Given the description of an element on the screen output the (x, y) to click on. 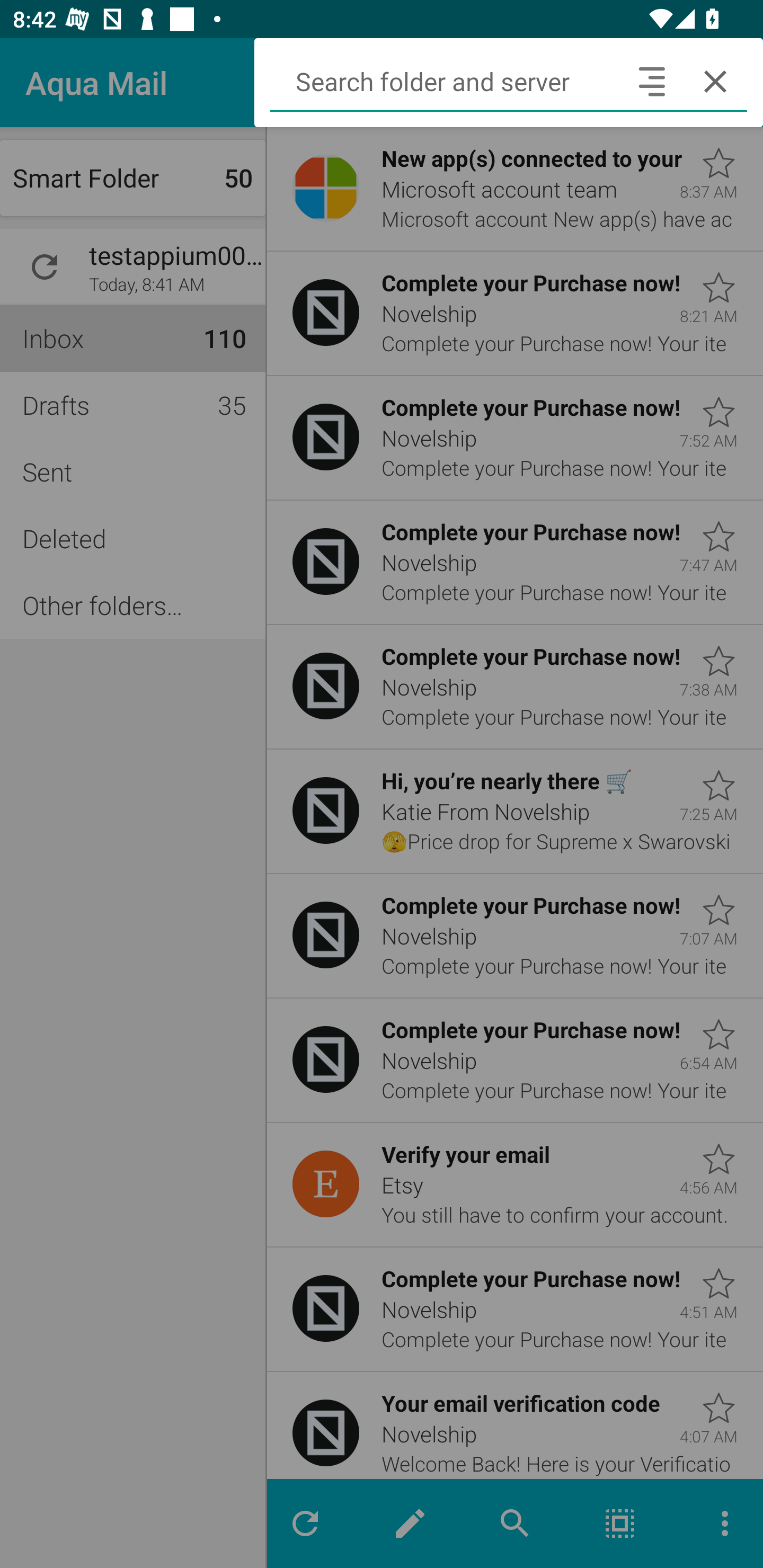
   Search folder and server (444, 81)
Search headers and text (651, 81)
Cancel (714, 81)
